Given the description of an element on the screen output the (x, y) to click on. 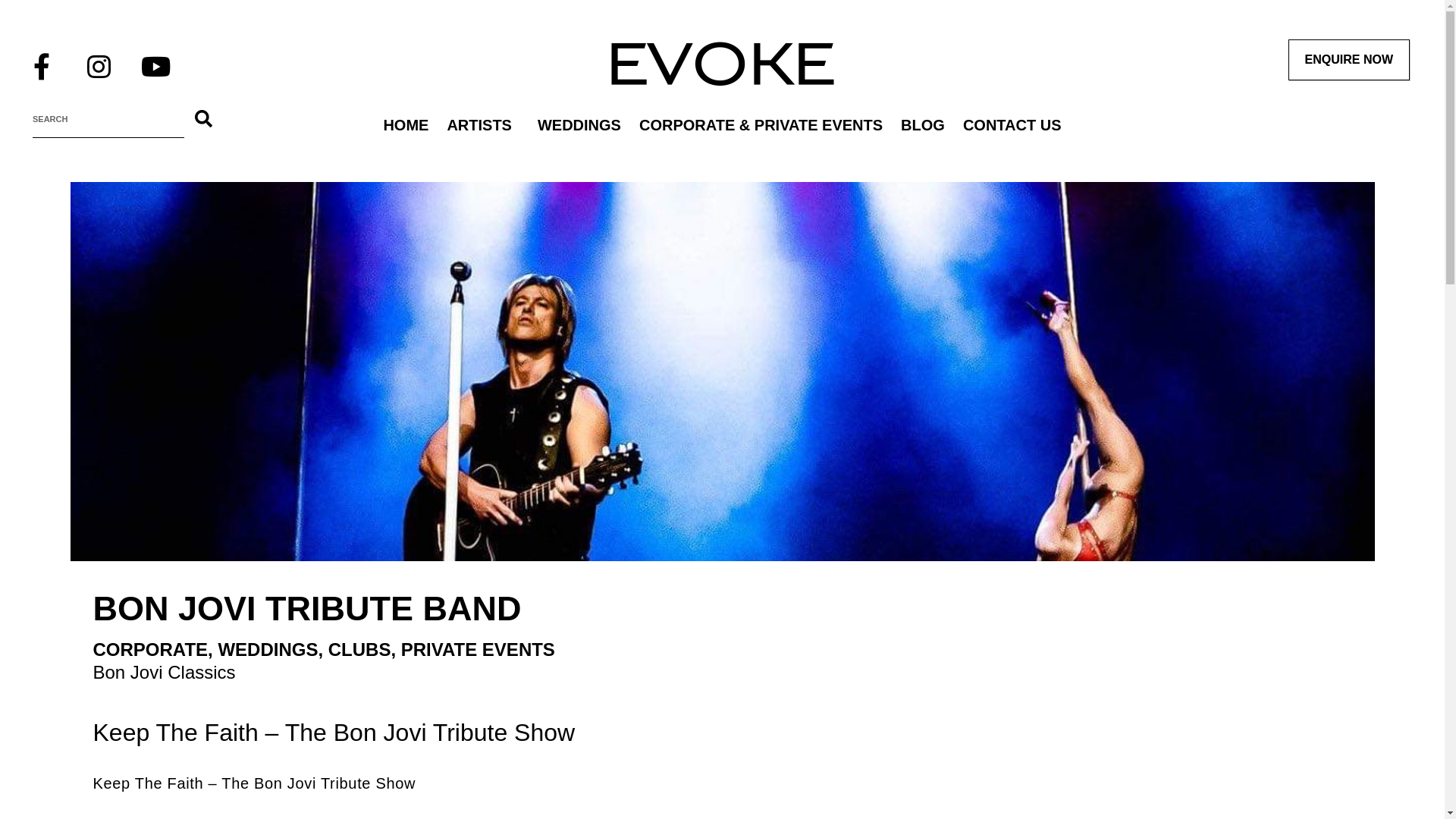
HOME Element type: text (405, 124)
CORPORATE & PRIVATE EVENTS Element type: text (760, 124)
BLOG Element type: text (922, 124)
WEDDINGS Element type: text (579, 124)
Evoke Entertainment Logo Element type: hover (721, 63)
ARTISTS Element type: text (482, 124)
CONTACT US Element type: text (1011, 124)
ENQUIRE NOW Element type: text (1348, 59)
